Given the description of an element on the screen output the (x, y) to click on. 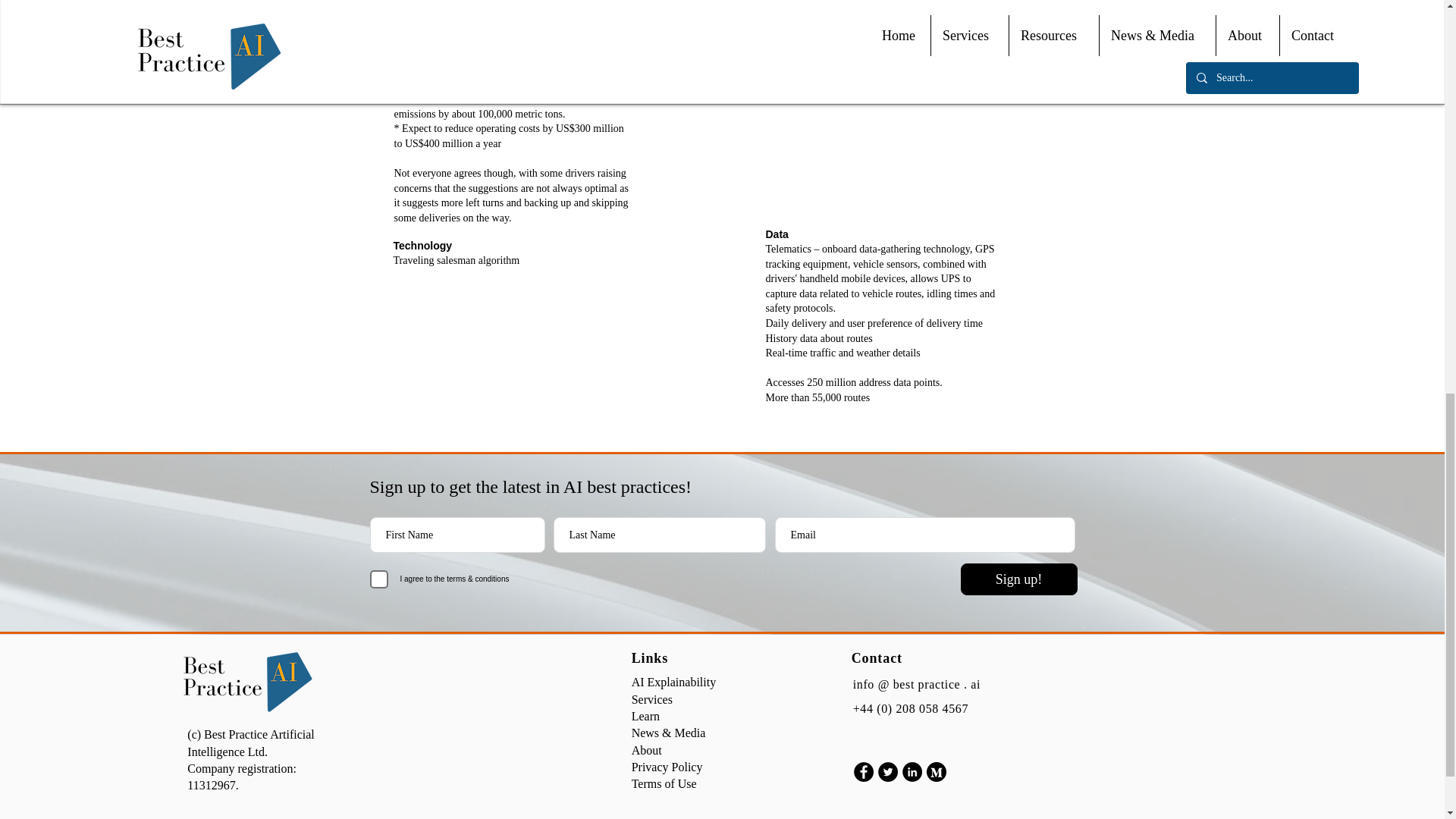
Terms of Use (664, 783)
About (646, 749)
AI Explainability (673, 681)
Sign up! (1018, 579)
Services (651, 698)
Privacy Policy (667, 766)
Learn (645, 716)
Contact (876, 657)
